Given the description of an element on the screen output the (x, y) to click on. 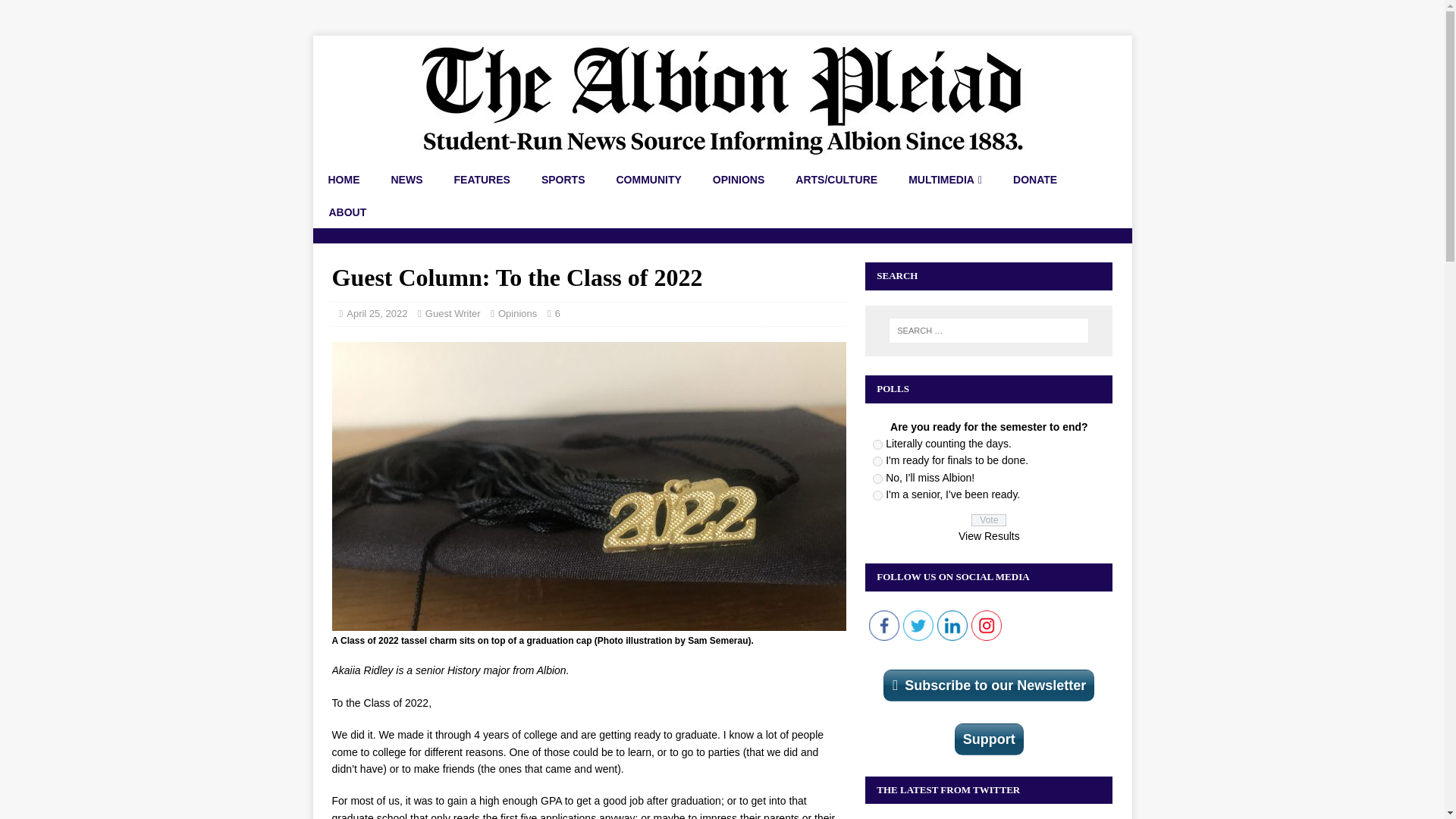
OPINIONS (737, 179)
1004 (877, 461)
Subscribe to our Newsletter (988, 685)
NEWS (406, 179)
SPORTS (562, 179)
INSTAGRAM (986, 625)
Opinions (517, 313)
1003 (877, 444)
1005 (877, 479)
FEATURES (481, 179)
